Given the description of an element on the screen output the (x, y) to click on. 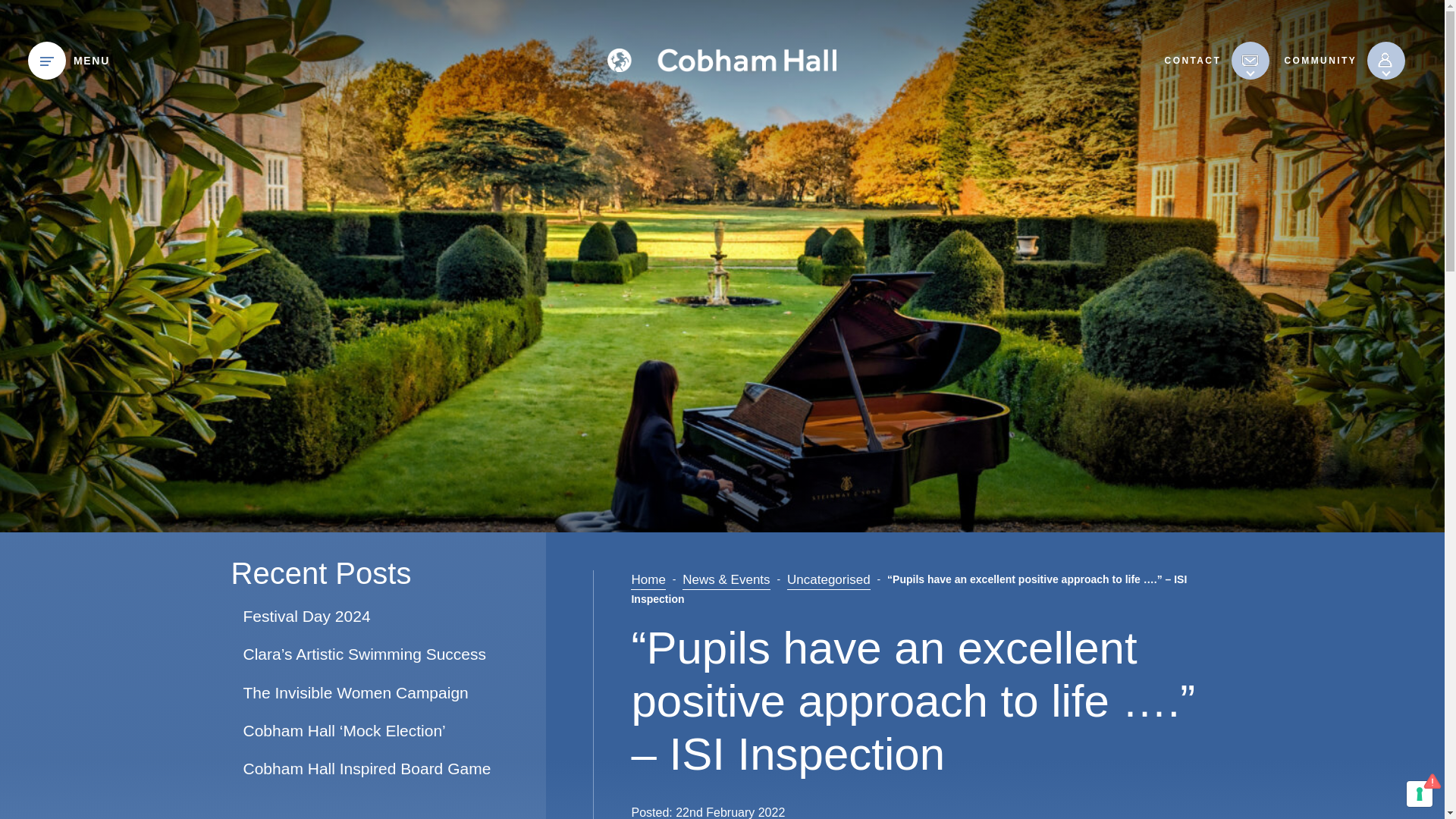
Go to the Uncategorised Category archives. (828, 579)
Go to Cobham Hall School. (647, 579)
CONTACT (1192, 59)
COMMUNITY (1320, 59)
